Given the description of an element on the screen output the (x, y) to click on. 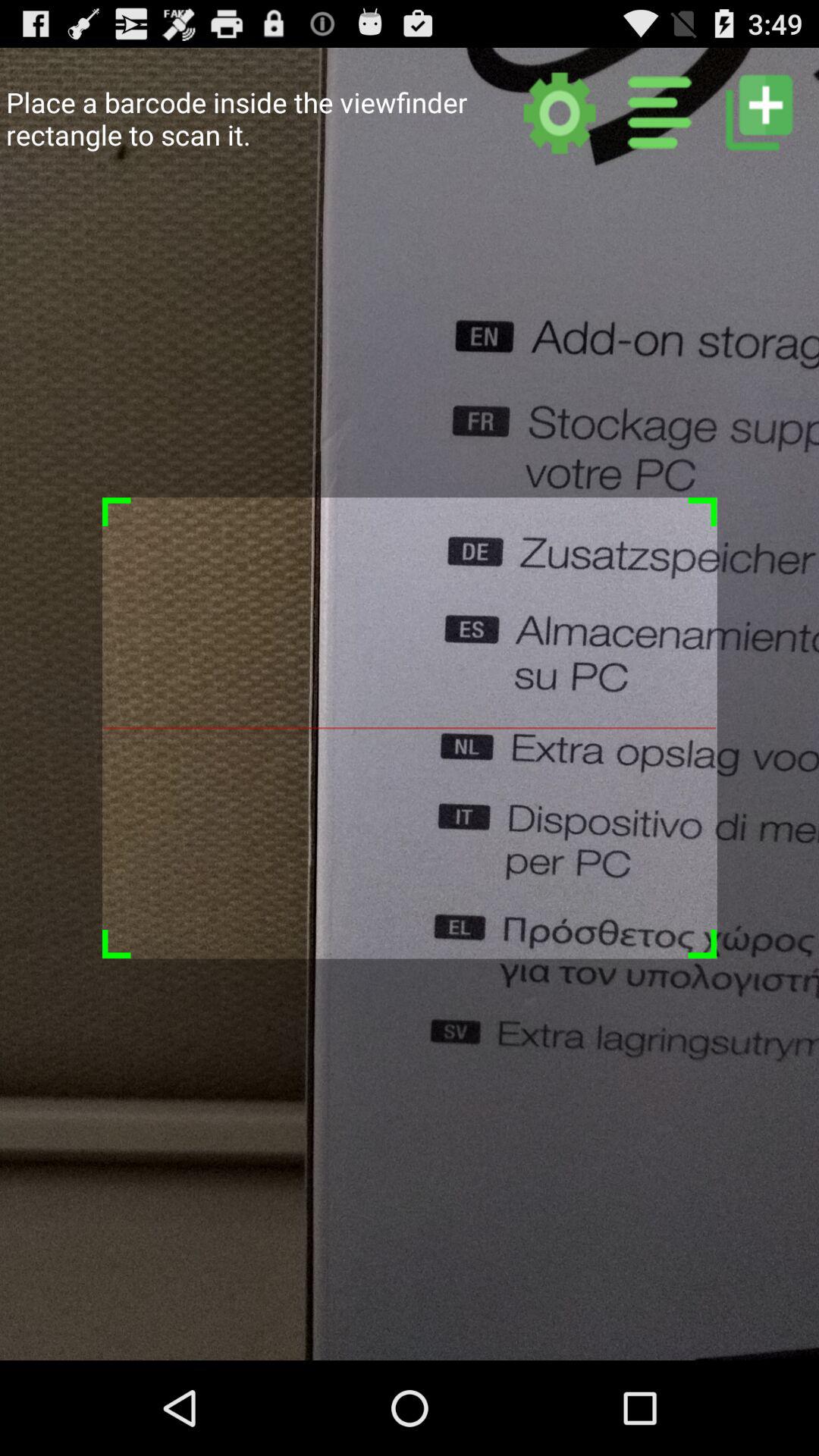
click icon next to place a barcode (560, 112)
